Given the description of an element on the screen output the (x, y) to click on. 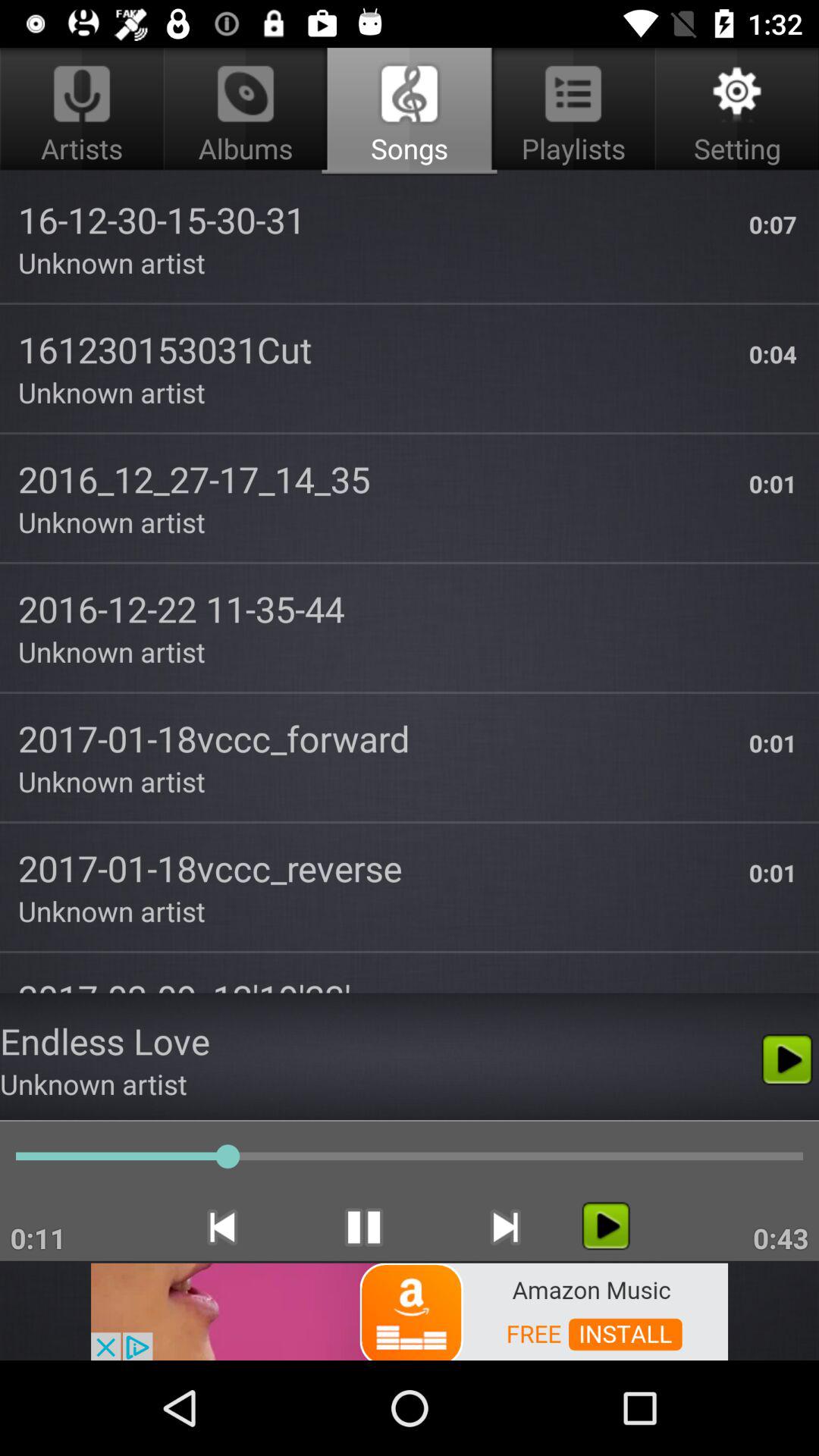
play the song option (605, 1225)
